Given the description of an element on the screen output the (x, y) to click on. 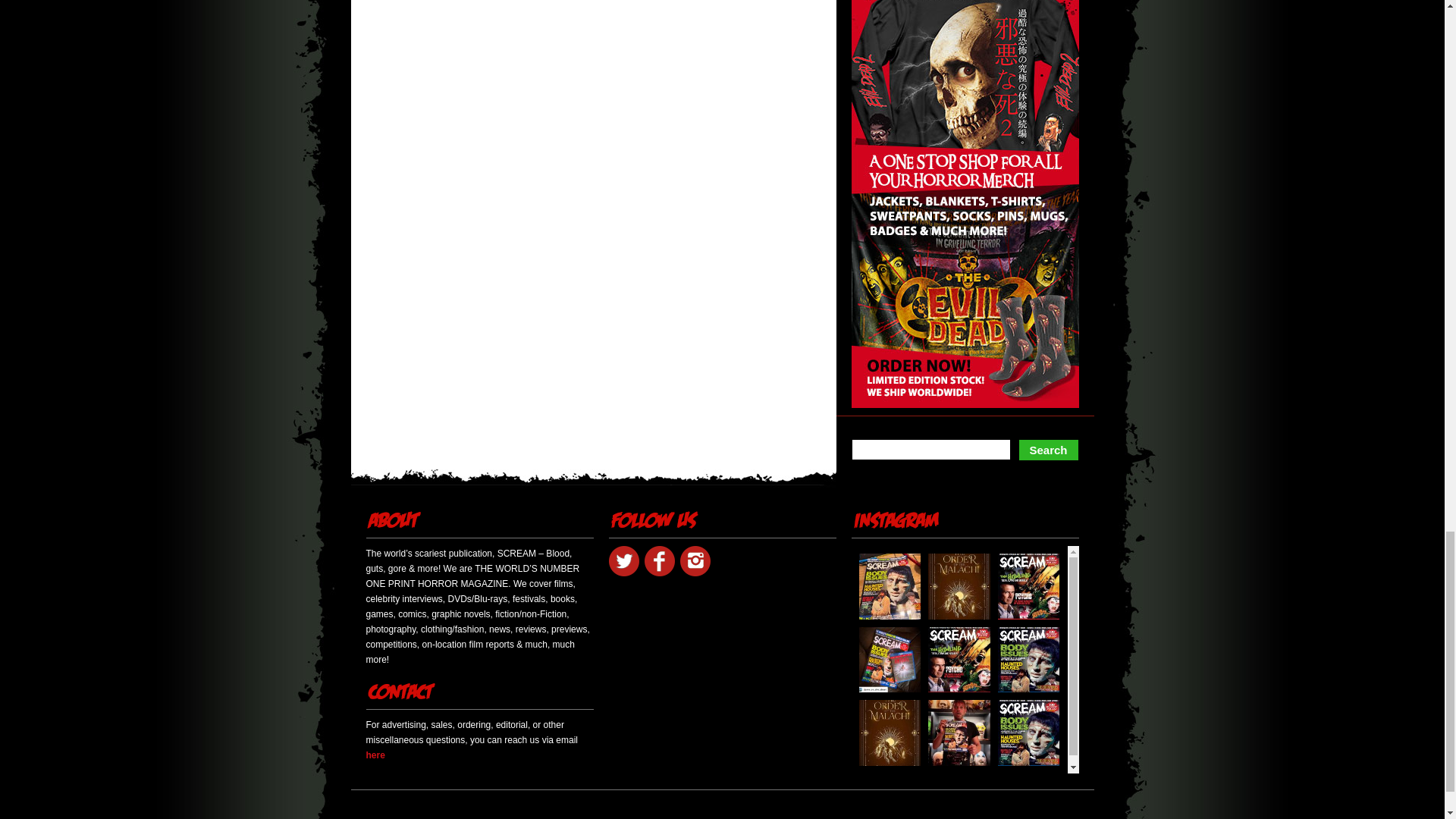
Search (1047, 449)
Search (1047, 449)
here (374, 755)
